Given the description of an element on the screen output the (x, y) to click on. 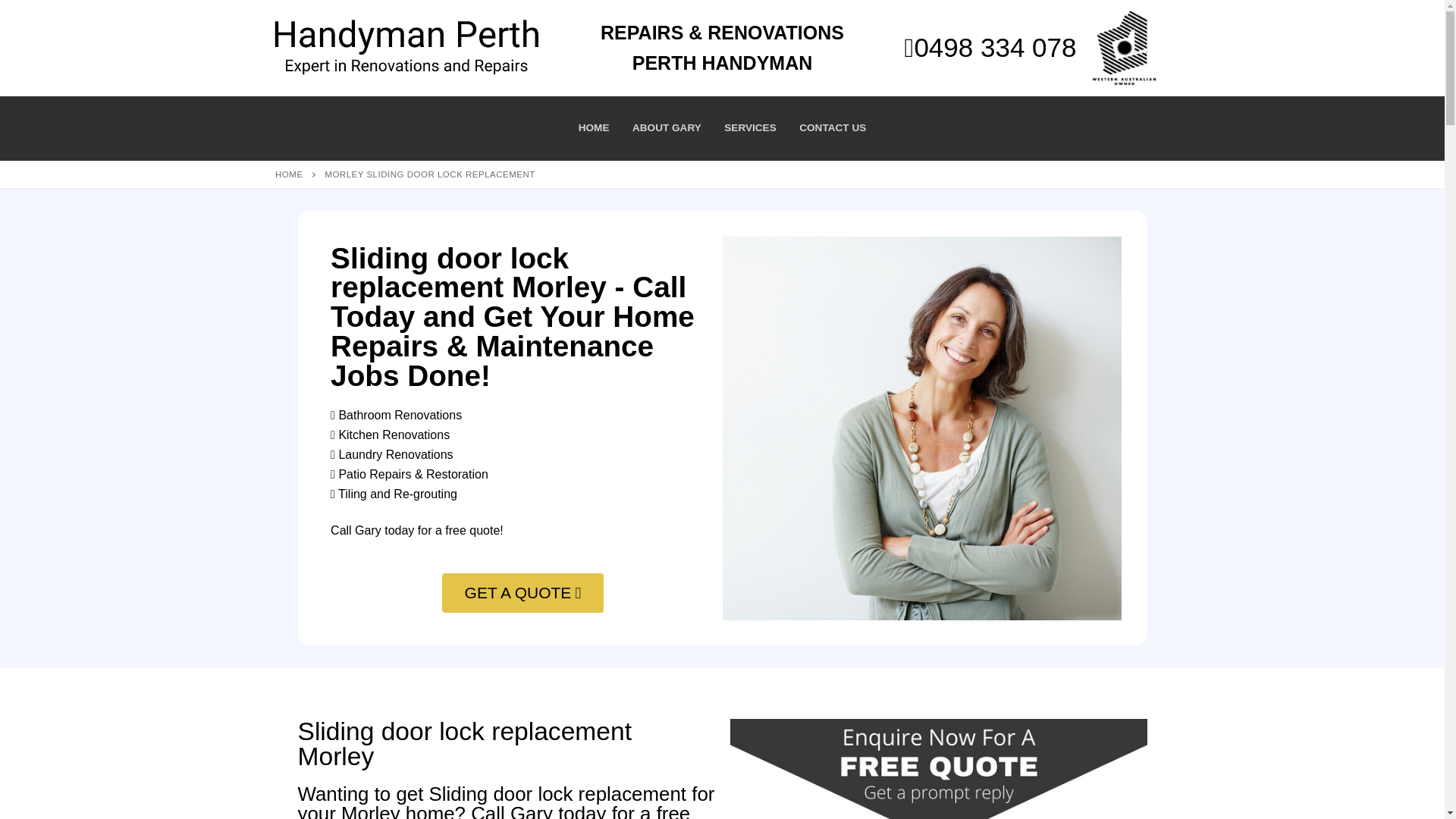
ABOUT GARY (667, 127)
SERVICES (750, 127)
HOME (288, 174)
HOME (594, 127)
CONTACT US (832, 127)
GET A QUOTE (523, 592)
0498 334 078 (990, 47)
